Given the description of an element on the screen output the (x, y) to click on. 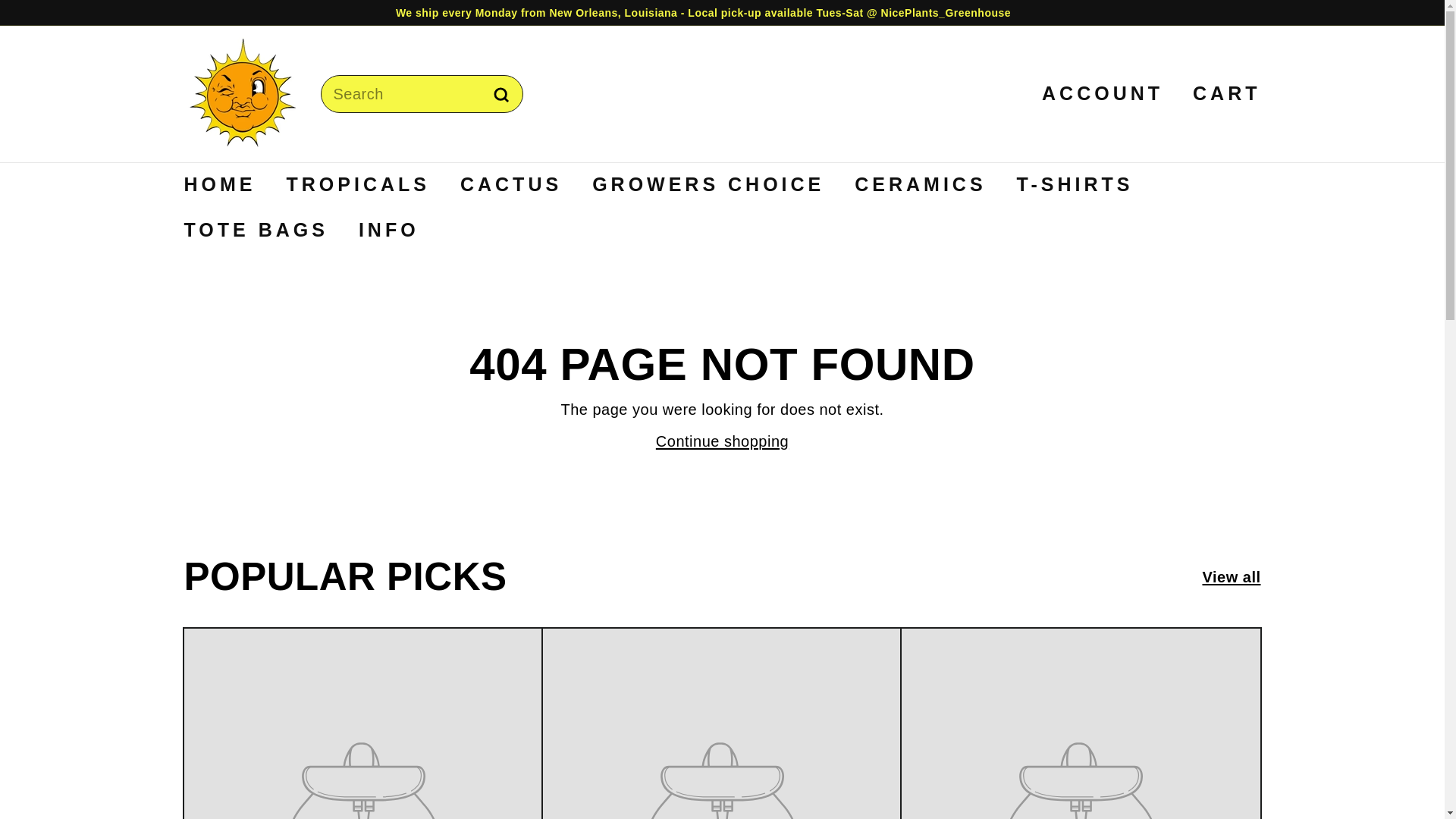
Nice Plants Good Pots on TikTok (1248, 12)
ACCOUNT (1097, 94)
CART (1220, 94)
TOTE BAGS (255, 230)
YouTube (1256, 12)
Facebook (1233, 12)
Nice Plants Good Pots on Instagram (1240, 12)
Instagram (1240, 12)
CERAMICS (920, 185)
CACTUS (510, 185)
